Given the description of an element on the screen output the (x, y) to click on. 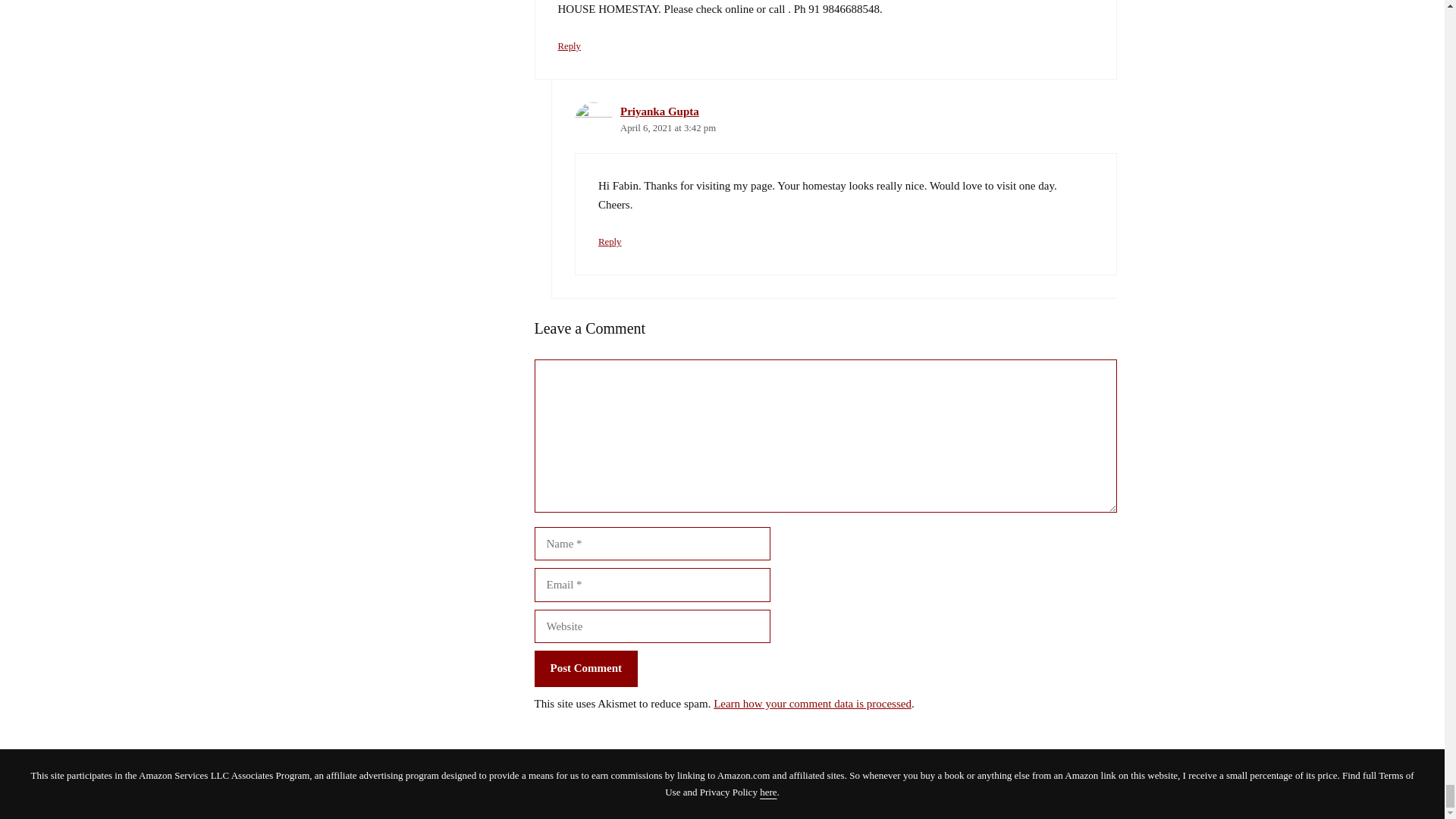
Post Comment (585, 668)
